Given the description of an element on the screen output the (x, y) to click on. 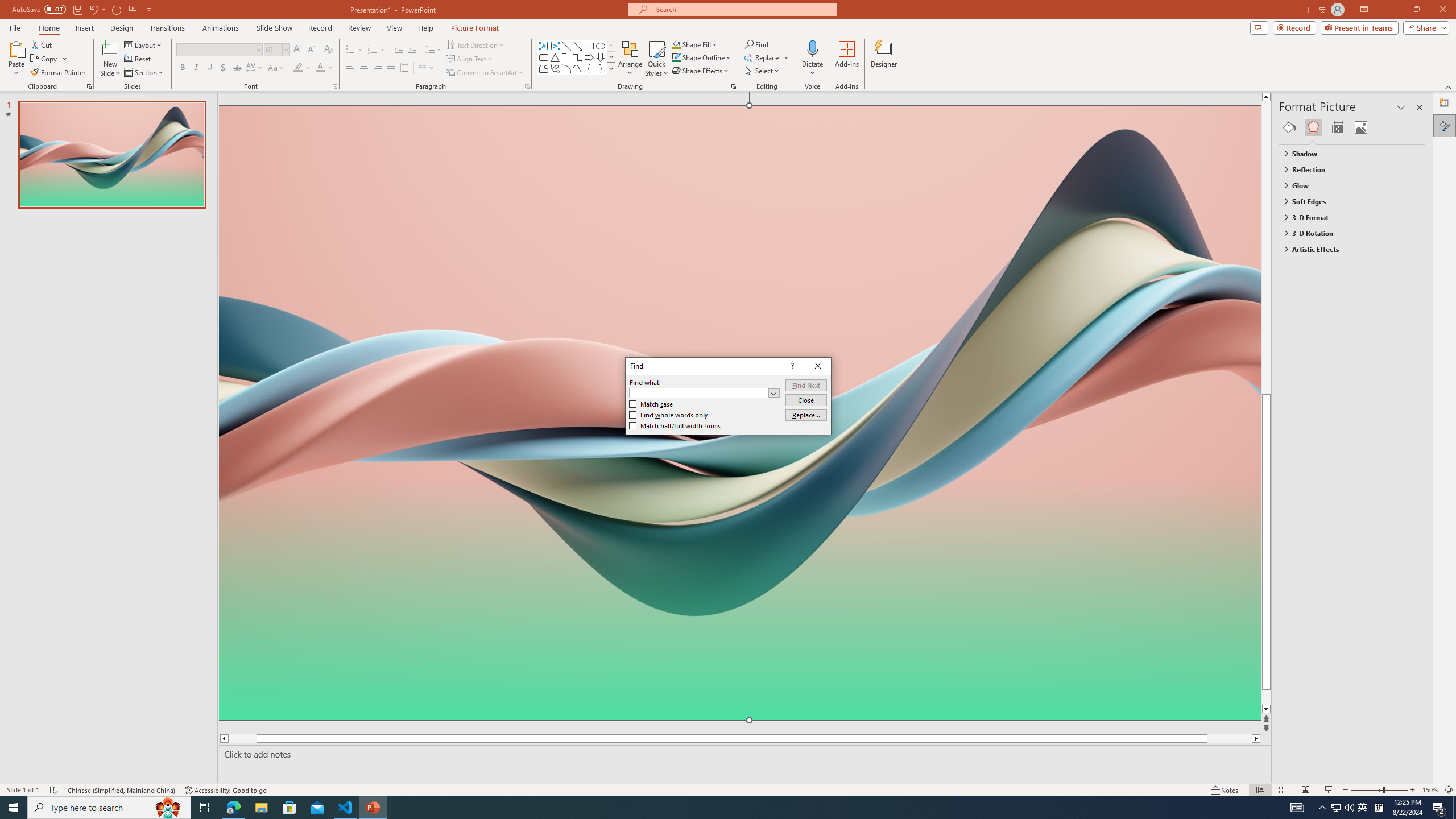
Class: NetUIGalleryContainer (1352, 126)
Font (219, 49)
Row Down (611, 56)
Q2790: 100% (1349, 807)
View (395, 28)
Shadow (223, 67)
Align Text (470, 58)
New Slide (110, 58)
User Promoted Notification Area (1342, 807)
Bullets (354, 49)
Font (215, 49)
Zoom to Fit  (1449, 790)
Page up (1287, 247)
